Given the description of an element on the screen output the (x, y) to click on. 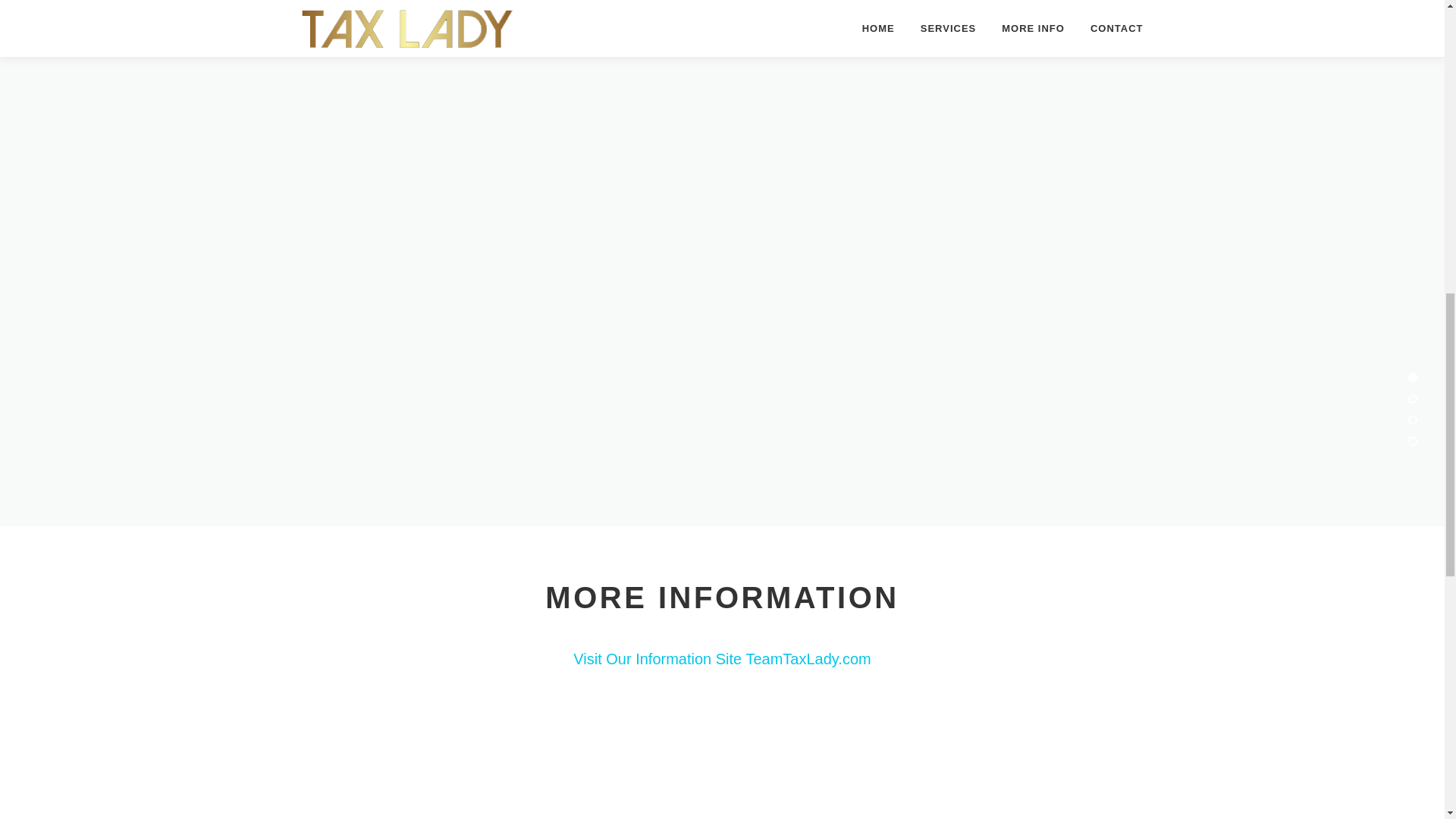
Visit Our Information Site TeamTaxLady.com (721, 658)
Useful Tax Worksheets (722, 36)
